Given the description of an element on the screen output the (x, y) to click on. 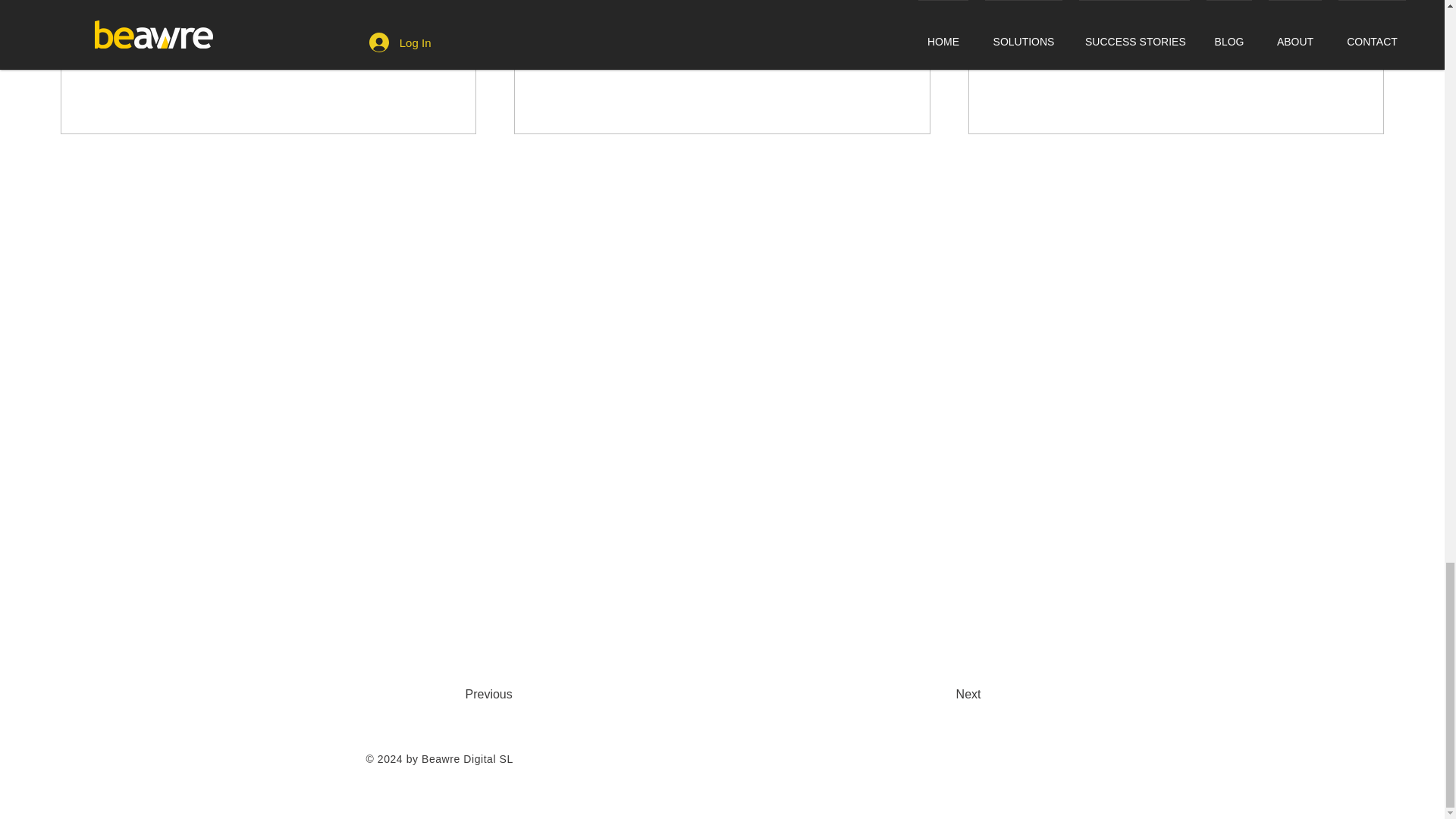
Next (928, 694)
Previous (526, 694)
